Given the description of an element on the screen output the (x, y) to click on. 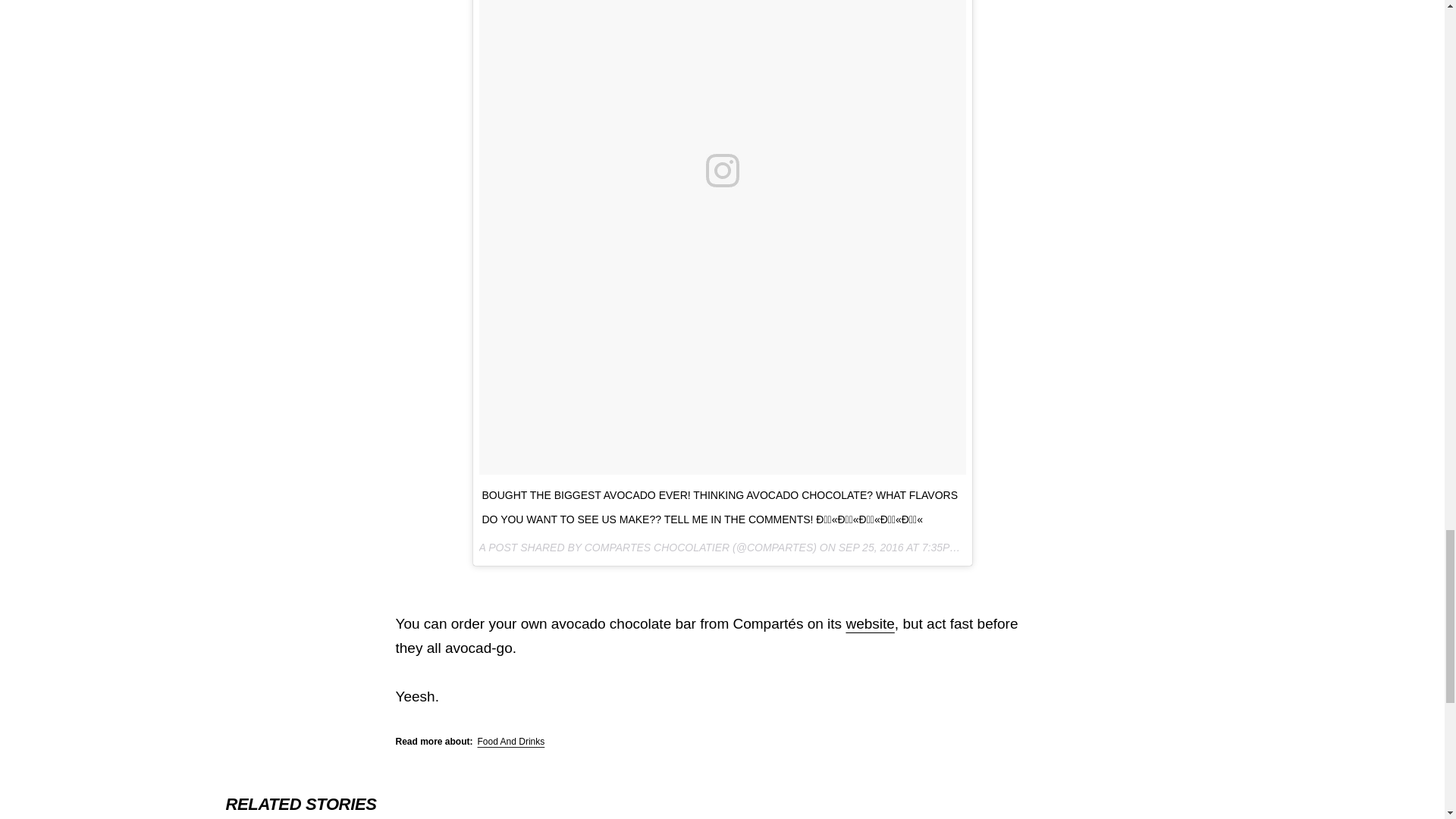
website (869, 623)
Food And Drinks (510, 741)
